Given the description of an element on the screen output the (x, y) to click on. 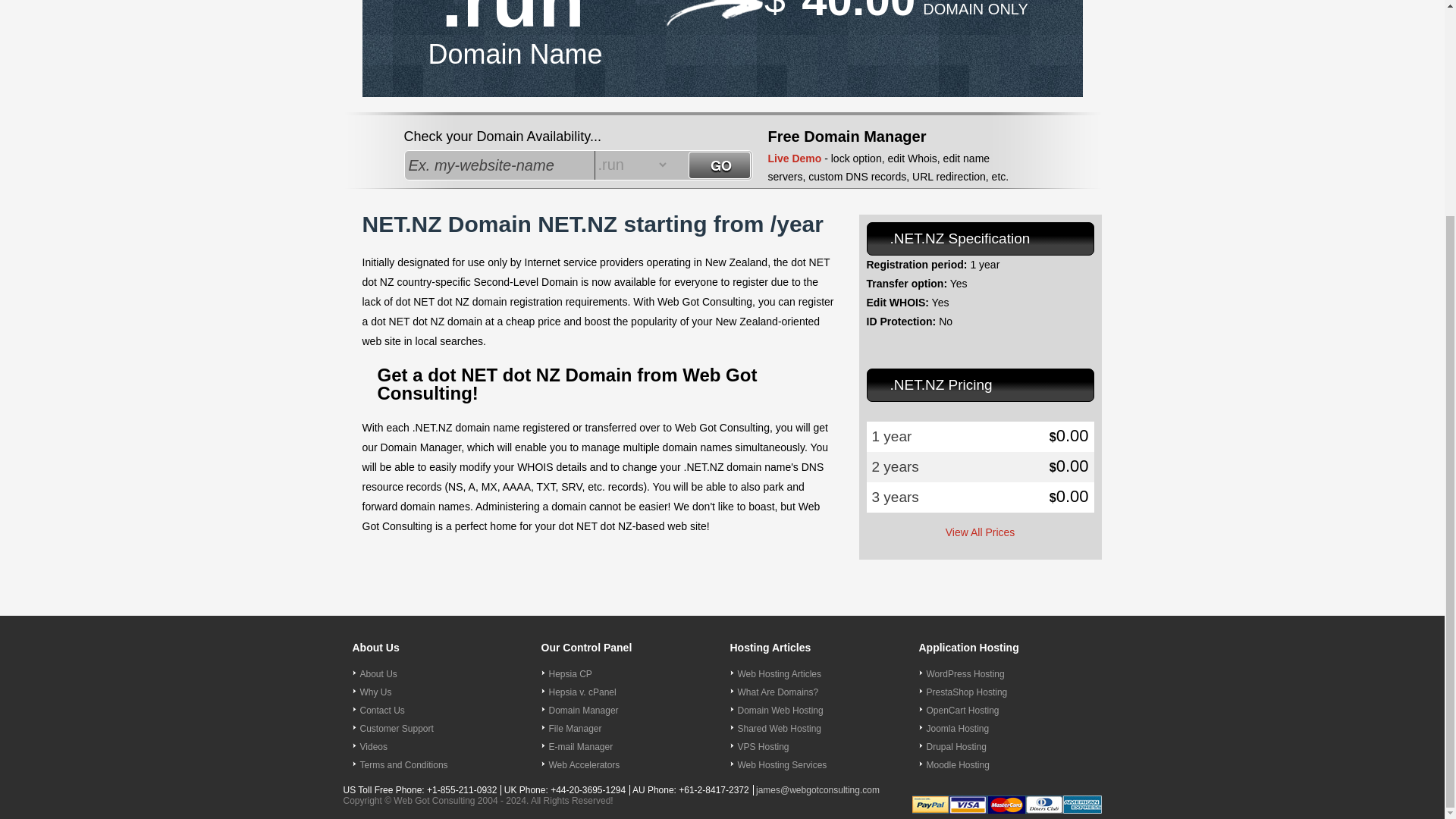
About Us (377, 674)
Customer Support (395, 728)
text (499, 164)
Ex. my-website-name (499, 164)
Terms and Conditions (402, 765)
Videos (373, 747)
Contact Us (381, 710)
View All Prices (979, 532)
Live Demo (794, 158)
Why Us (375, 692)
